Given the description of an element on the screen output the (x, y) to click on. 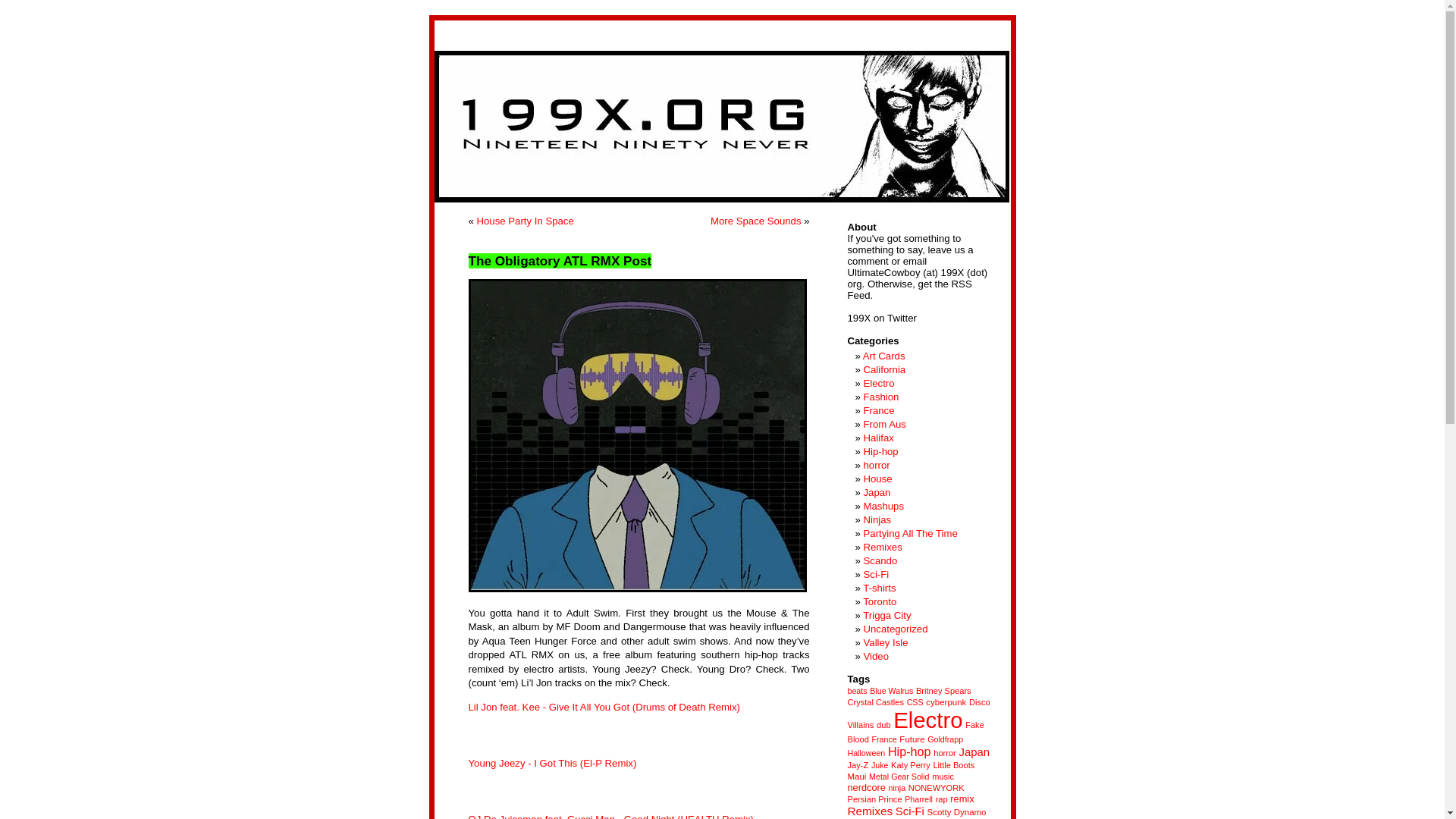
Scando (879, 560)
T-shirts (879, 587)
horror (876, 464)
View all posts filed under California (884, 369)
View all posts filed under Art Cards (884, 355)
Electro (878, 383)
View all posts filed under Electro (878, 383)
Halifax (878, 437)
Toronto (879, 601)
Permanent Link: The Obligatory ATL RMX Post (560, 260)
View all posts filed under House (877, 478)
Ninjas (877, 519)
View all posts filed under From Aus (884, 423)
House Party In Space (524, 220)
Fashion (880, 396)
